Given the description of an element on the screen output the (x, y) to click on. 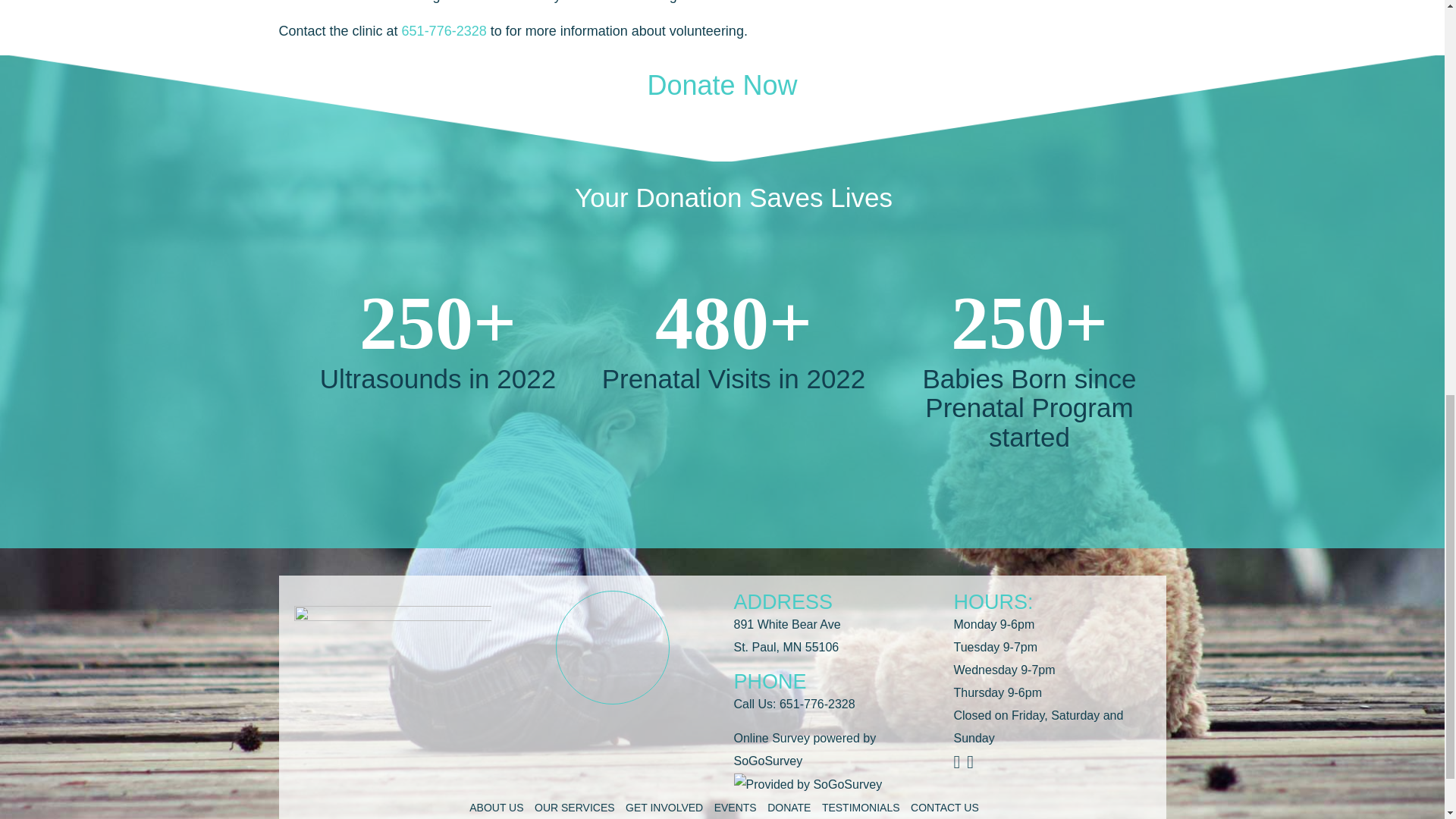
OUR SERVICES (574, 807)
651-776-2328 (443, 30)
ABOUT US (495, 807)
DONATE (788, 807)
Online Survey (771, 738)
EVENTS (735, 807)
CONTACT US (944, 807)
TESTIMONIALS (860, 807)
651-776-2328 (817, 703)
GET INVOLVED (664, 807)
Donate Now (721, 84)
